Given the description of an element on the screen output the (x, y) to click on. 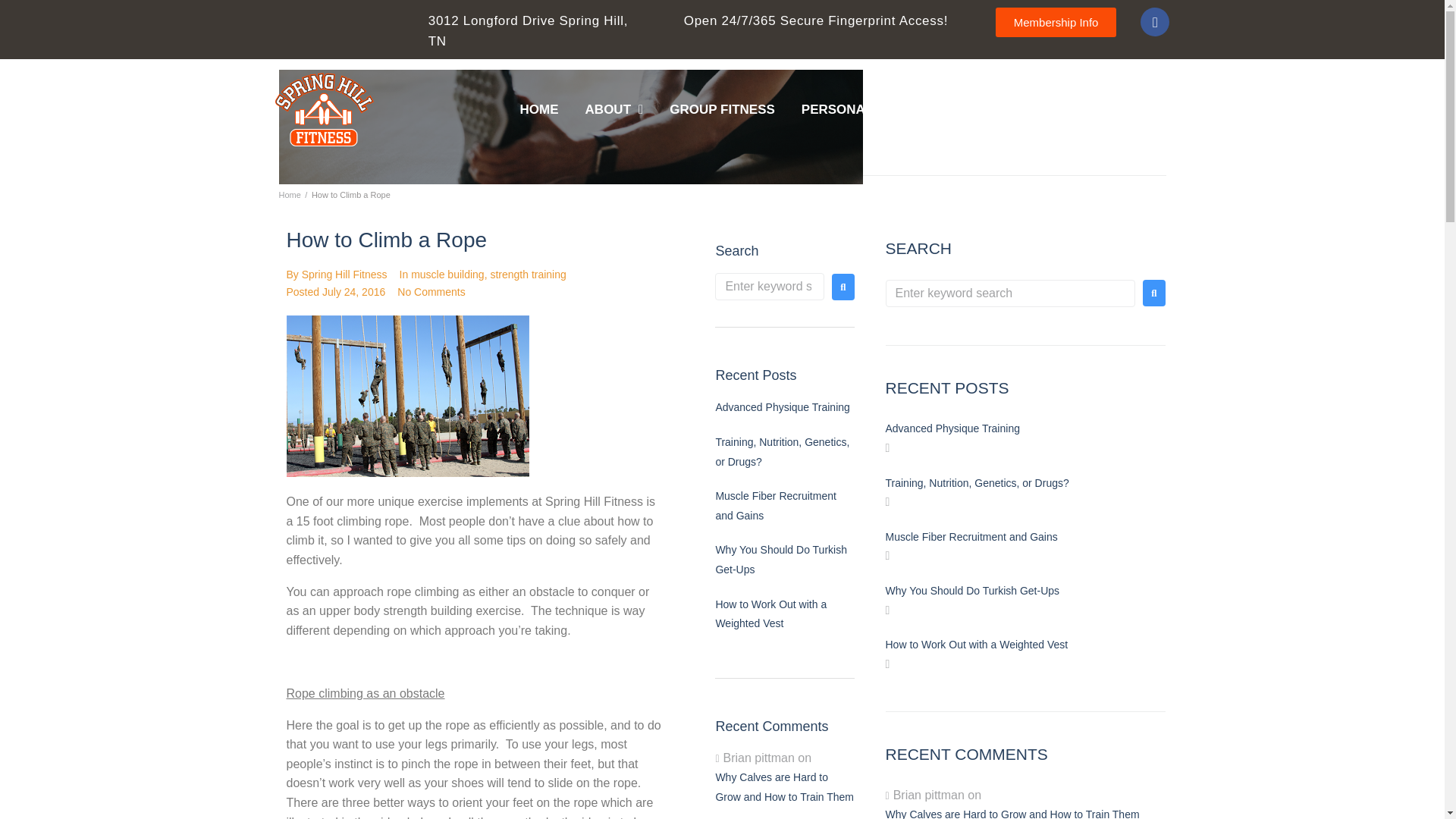
Home (290, 194)
Membership Info (1055, 21)
CONTACT (1131, 109)
muscle building (447, 274)
ABOUT (614, 109)
strength training (527, 274)
No Comments (430, 291)
GROUP FITNESS (722, 109)
HOME (539, 109)
PERSONAL TRAINING (869, 109)
MEMBERSHIPS (1019, 109)
By Spring Hill Fitness (336, 274)
Posted July 24, 2016 (335, 291)
Home (290, 194)
